Given the description of an element on the screen output the (x, y) to click on. 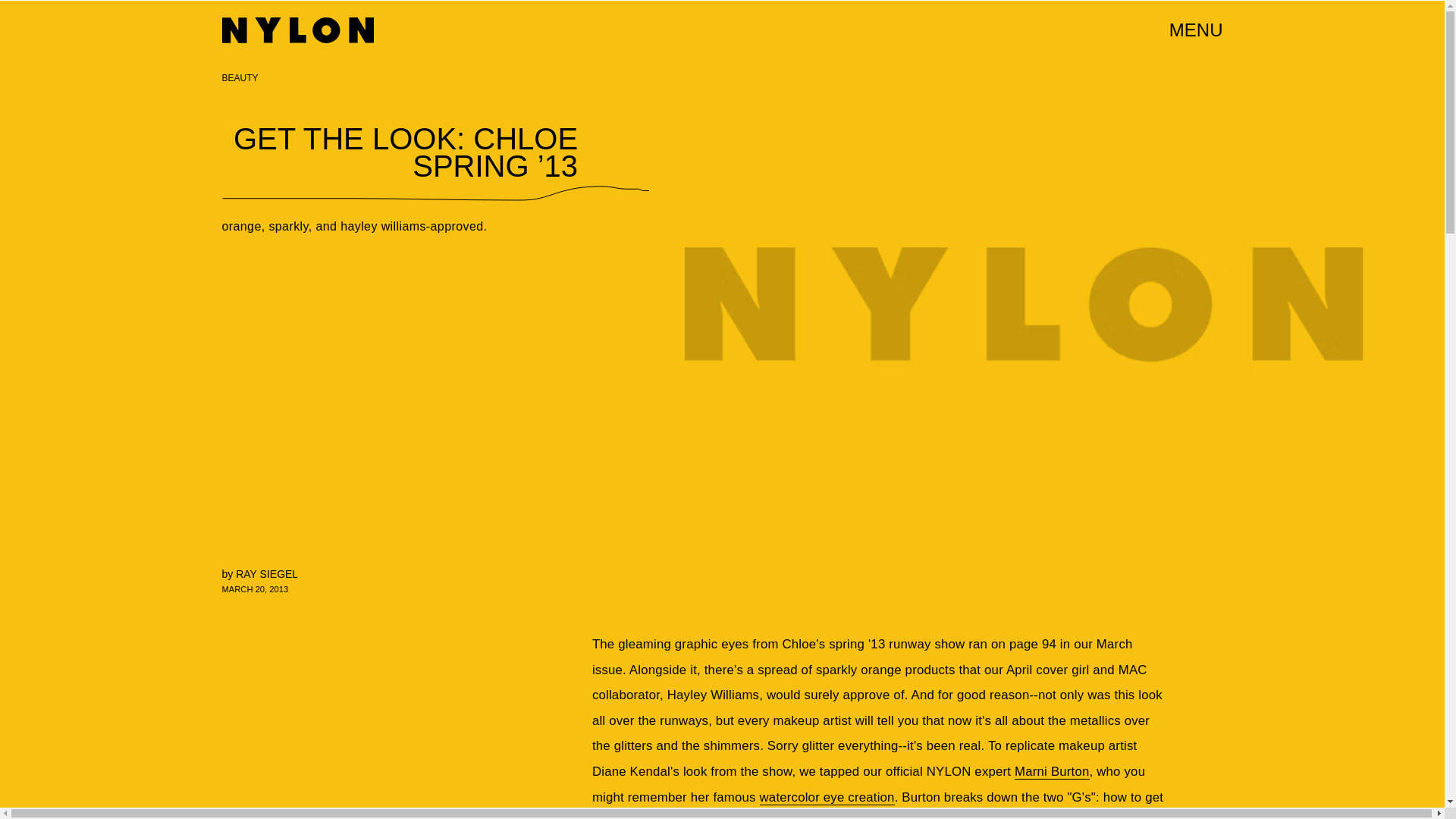
watercolor eye creation (827, 797)
Marni Burton (1051, 771)
Nylon (296, 30)
